Given the description of an element on the screen output the (x, y) to click on. 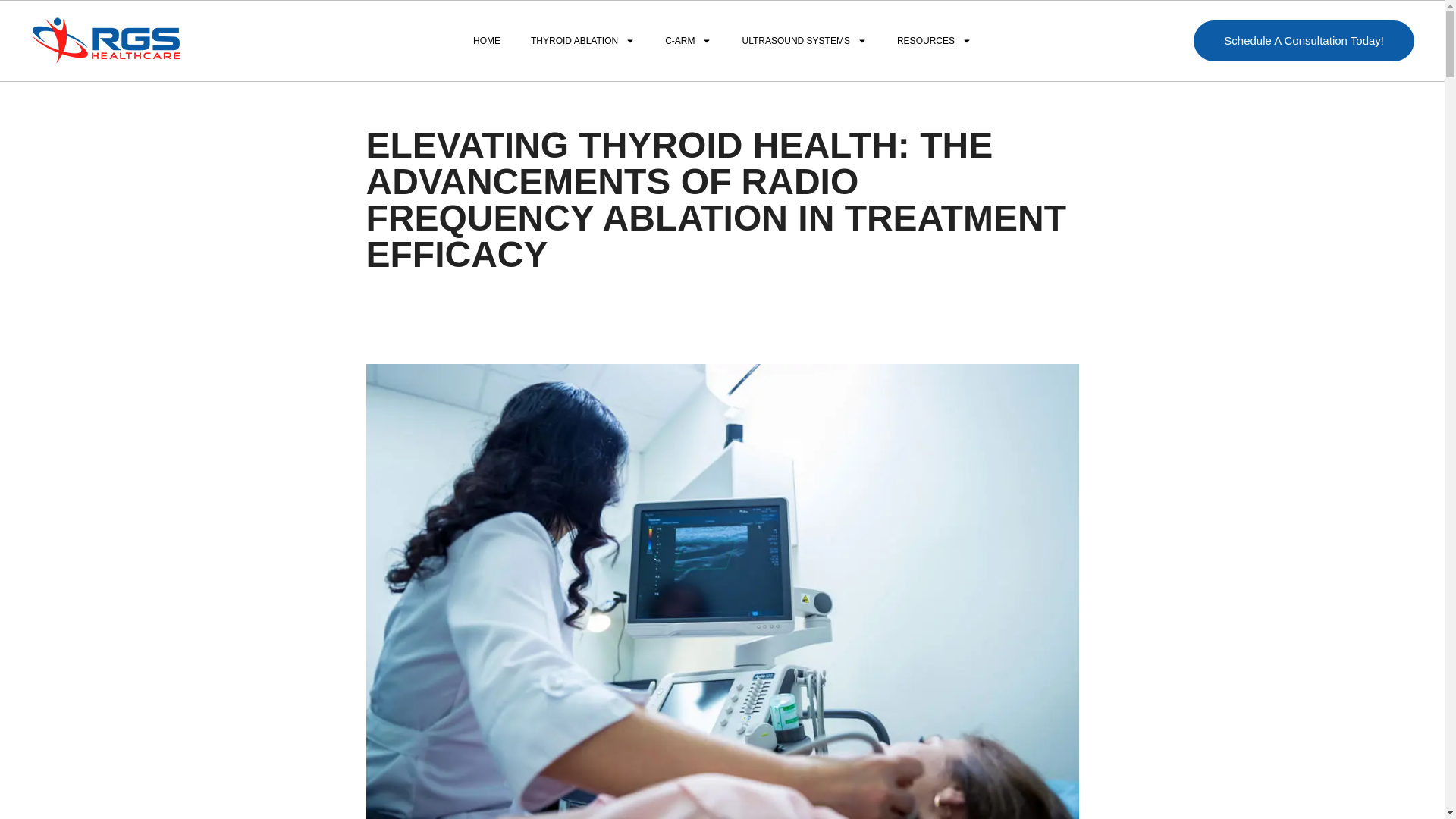
ULTRASOUND SYSTEMS (803, 40)
THYROID ABLATION (582, 40)
HOME (486, 40)
C-ARM (687, 40)
RESOURCES (934, 40)
